Given the description of an element on the screen output the (x, y) to click on. 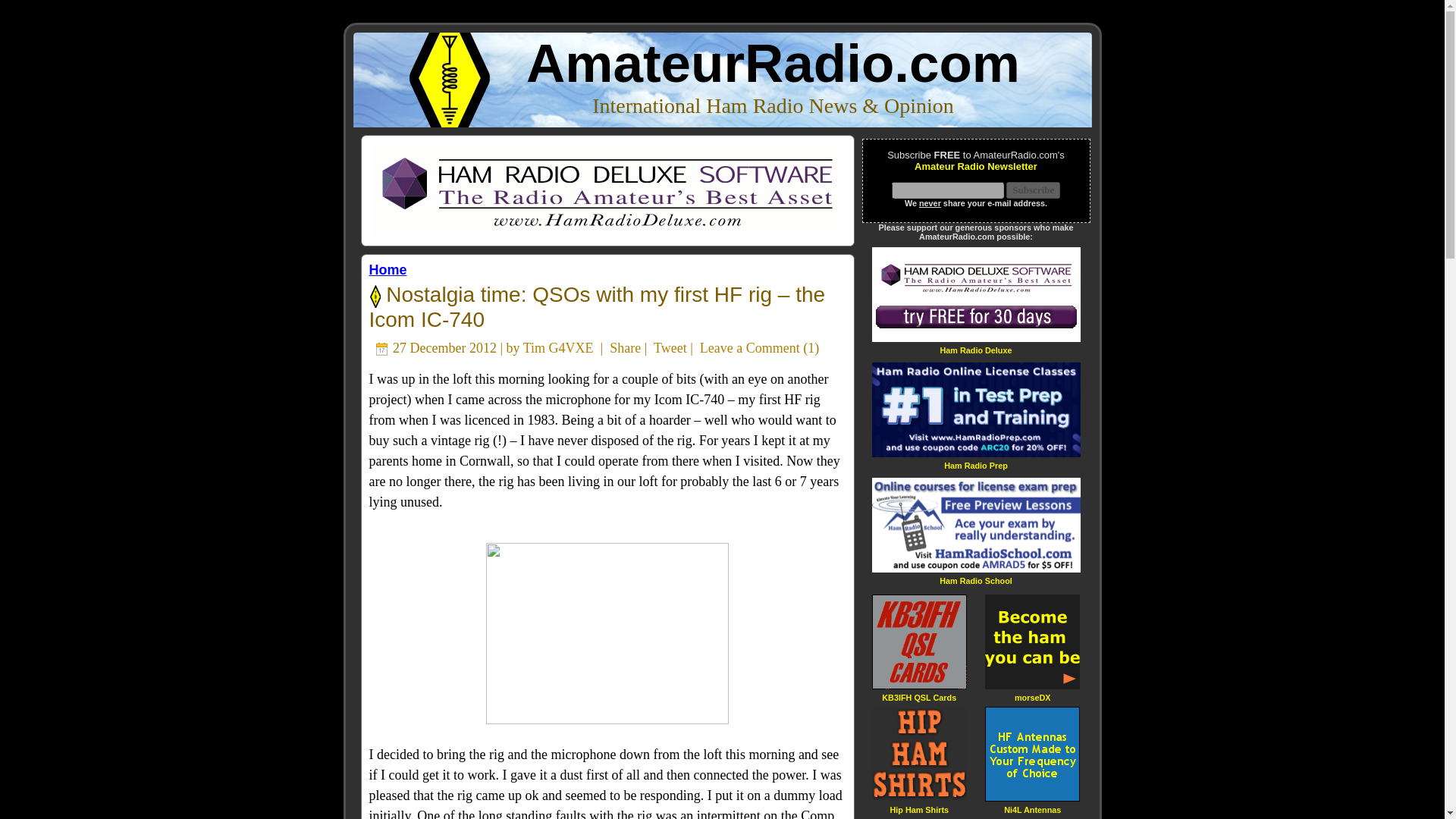
Tweet (670, 347)
AmateurRadio.com (772, 63)
Tim G4VXE (558, 347)
Leave a Comment (749, 347)
Subscribe (1032, 190)
Home (387, 269)
Ham Radio Prep (975, 464)
Ham Radio School (975, 580)
Hip Ham Shirts (919, 808)
Subscribe (1032, 190)
Ham Radio Deluxe (975, 349)
KB3IFH QSL Cards (919, 696)
Share (625, 347)
